Given the description of an element on the screen output the (x, y) to click on. 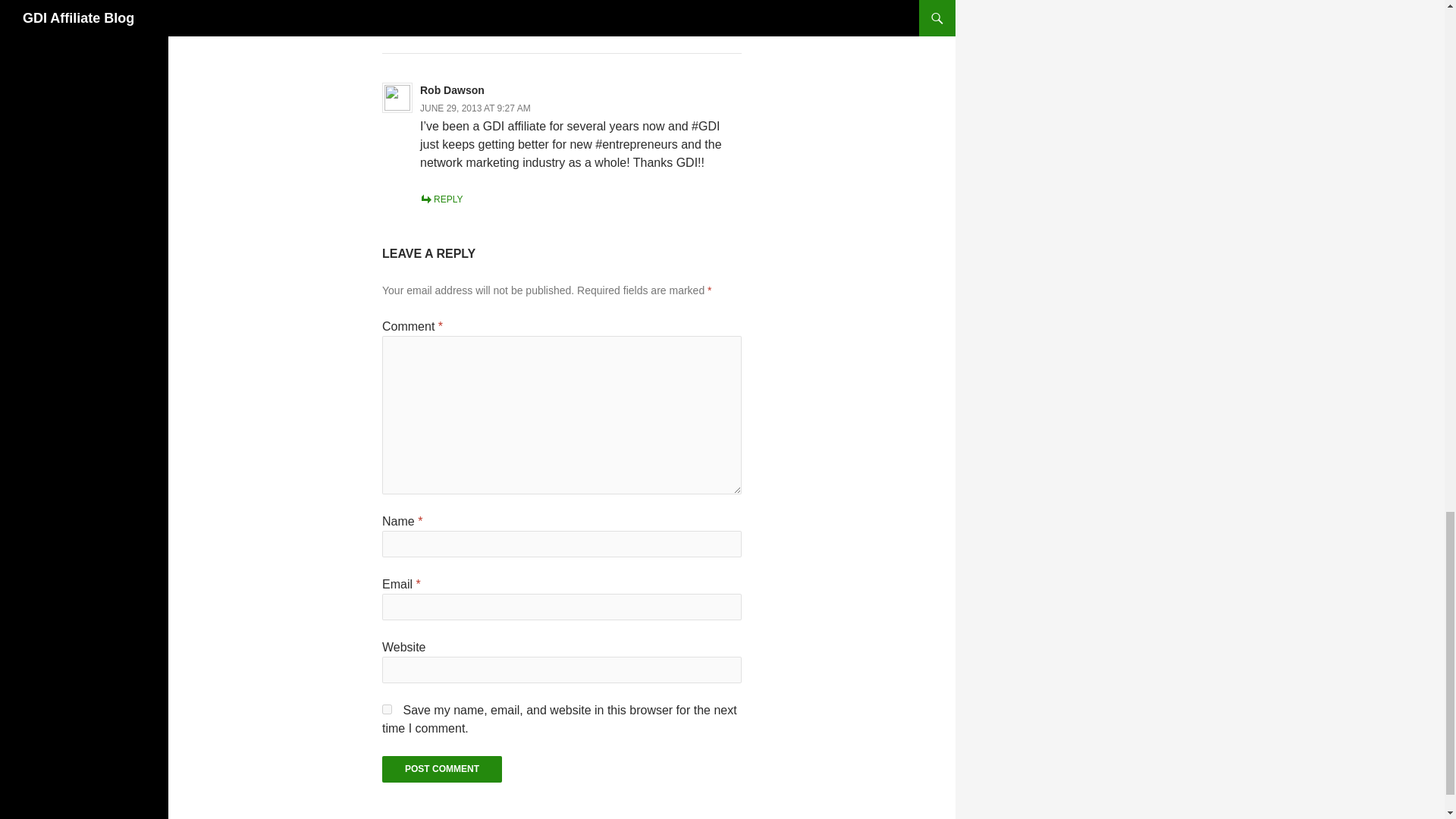
yes (386, 709)
REPLY (441, 16)
REPLY (441, 199)
Post Comment (441, 768)
Rob Dawson (452, 90)
JUNE 29, 2013 AT 9:27 AM (475, 108)
Post Comment (441, 768)
